Given the description of an element on the screen output the (x, y) to click on. 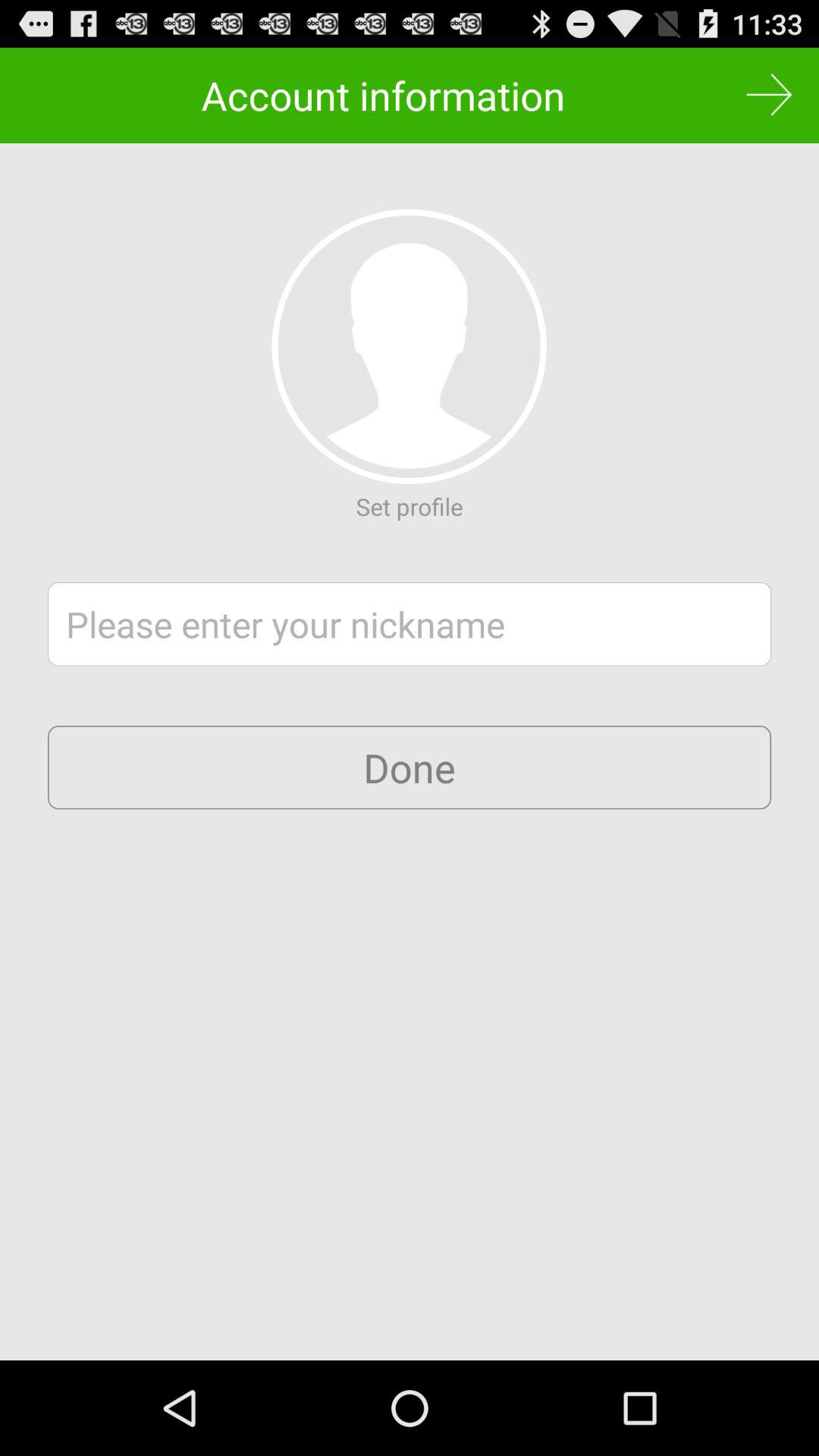
tap to select your profile picture for your account (408, 346)
